Given the description of an element on the screen output the (x, y) to click on. 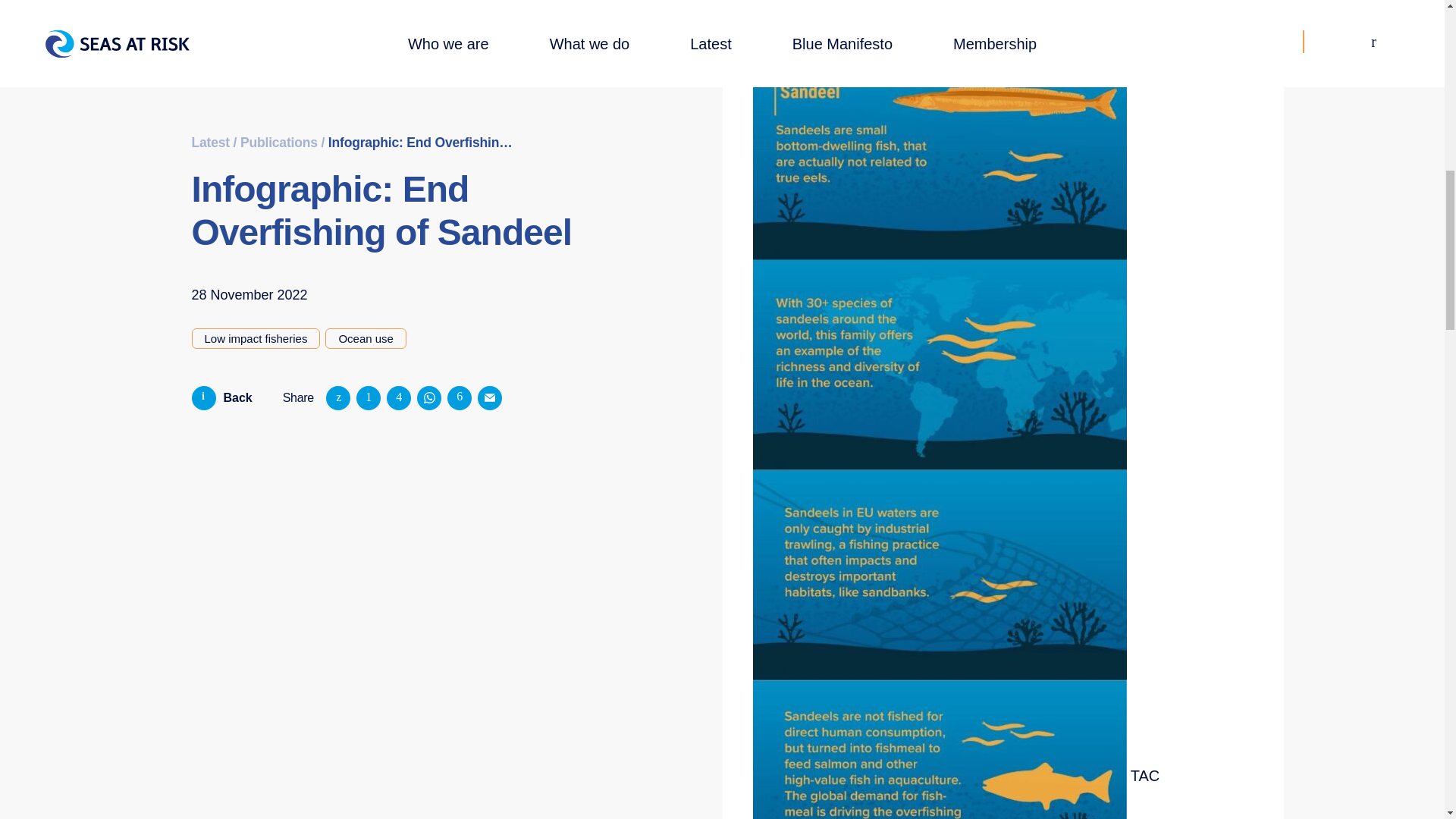
Share on LinkedIn (398, 151)
Share on Whatsapp (428, 151)
Share on Facebook (368, 151)
Share via email (489, 151)
Share on Pinterest (458, 151)
Share on Twitter (338, 151)
